Given the description of an element on the screen output the (x, y) to click on. 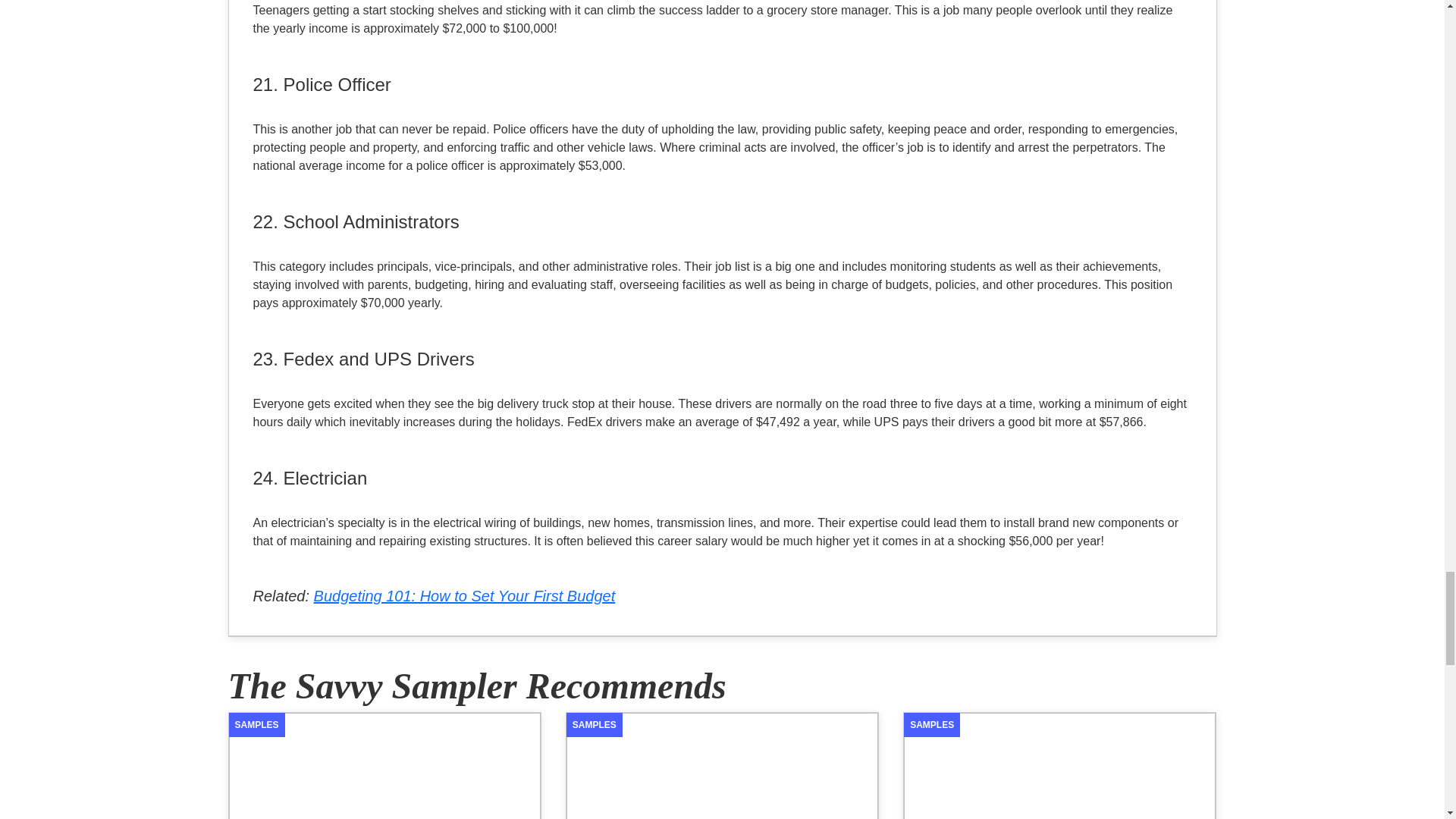
Budgeting 101: How to Set Your First Budget (464, 596)
